Given the description of an element on the screen output the (x, y) to click on. 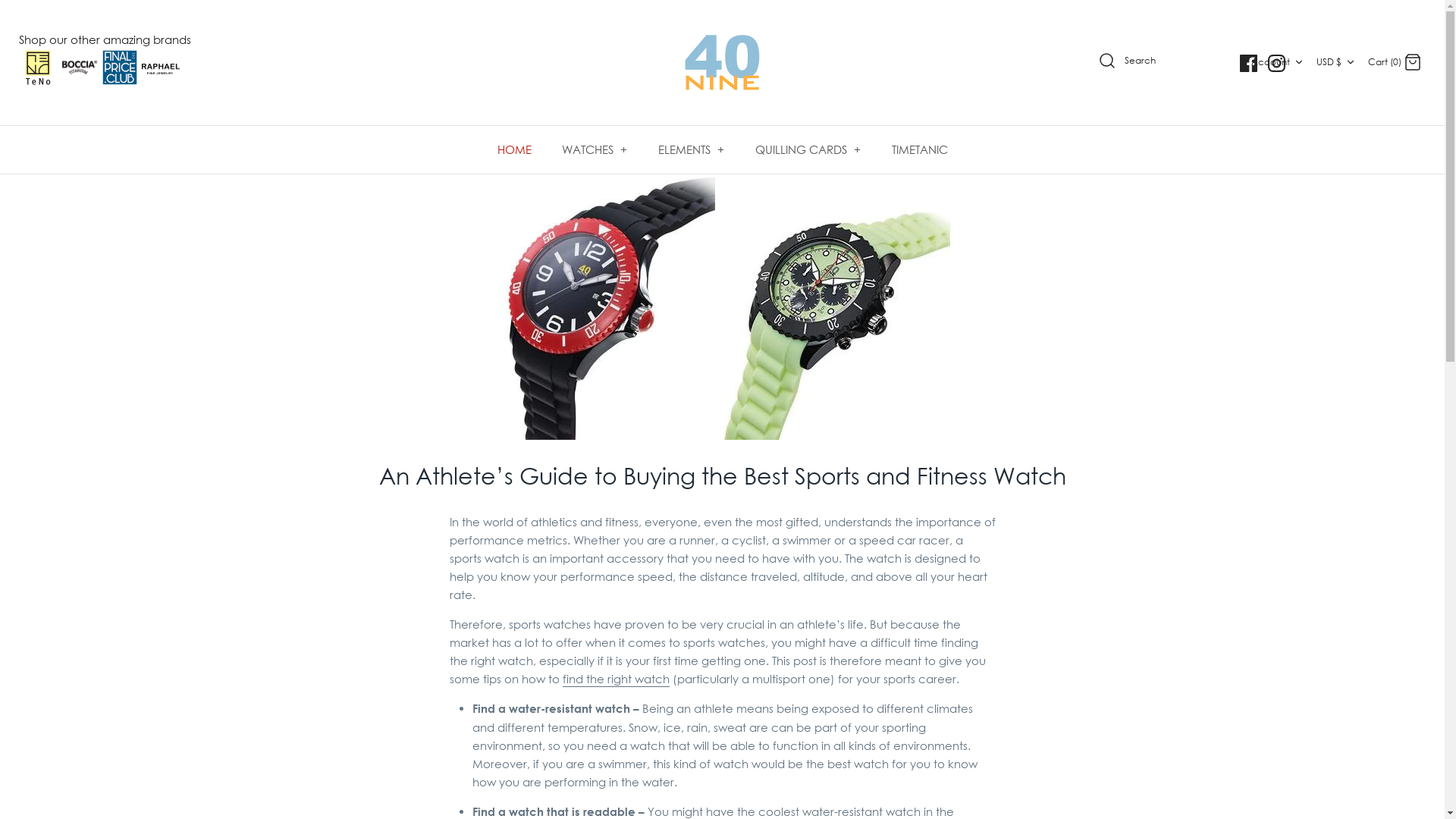
40nine-Watches Element type: hover (721, 62)
QUILLING CARDS + Element type: text (808, 149)
Cart (0) Cart Element type: text (1394, 60)
ELEMENTS + Element type: text (691, 149)
Facebook Element type: text (1248, 63)
Account
Down Element type: text (1278, 62)
TIMETANIC Element type: text (919, 149)
USD $
Down Element type: text (1337, 62)
HOME Element type: text (514, 149)
WATCHES + Element type: text (593, 149)
find the right watch Element type: text (615, 679)
Instagram Element type: text (1276, 63)
